Given the description of an element on the screen output the (x, y) to click on. 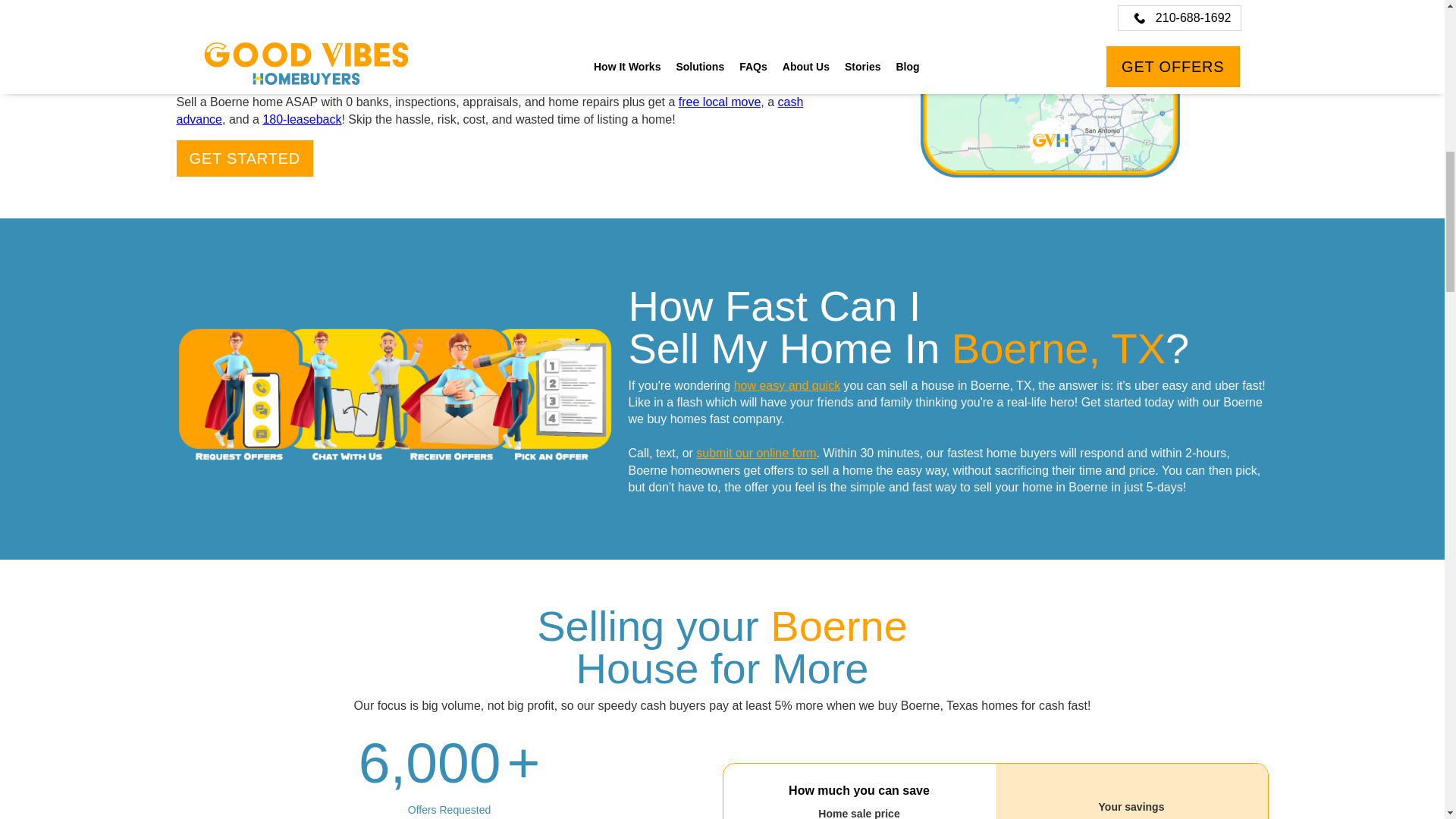
cash advance (489, 110)
submit our online form (755, 452)
how easy and quick (787, 385)
GET STARTED (244, 158)
180-leaseback (301, 119)
free local move (719, 101)
